Given the description of an element on the screen output the (x, y) to click on. 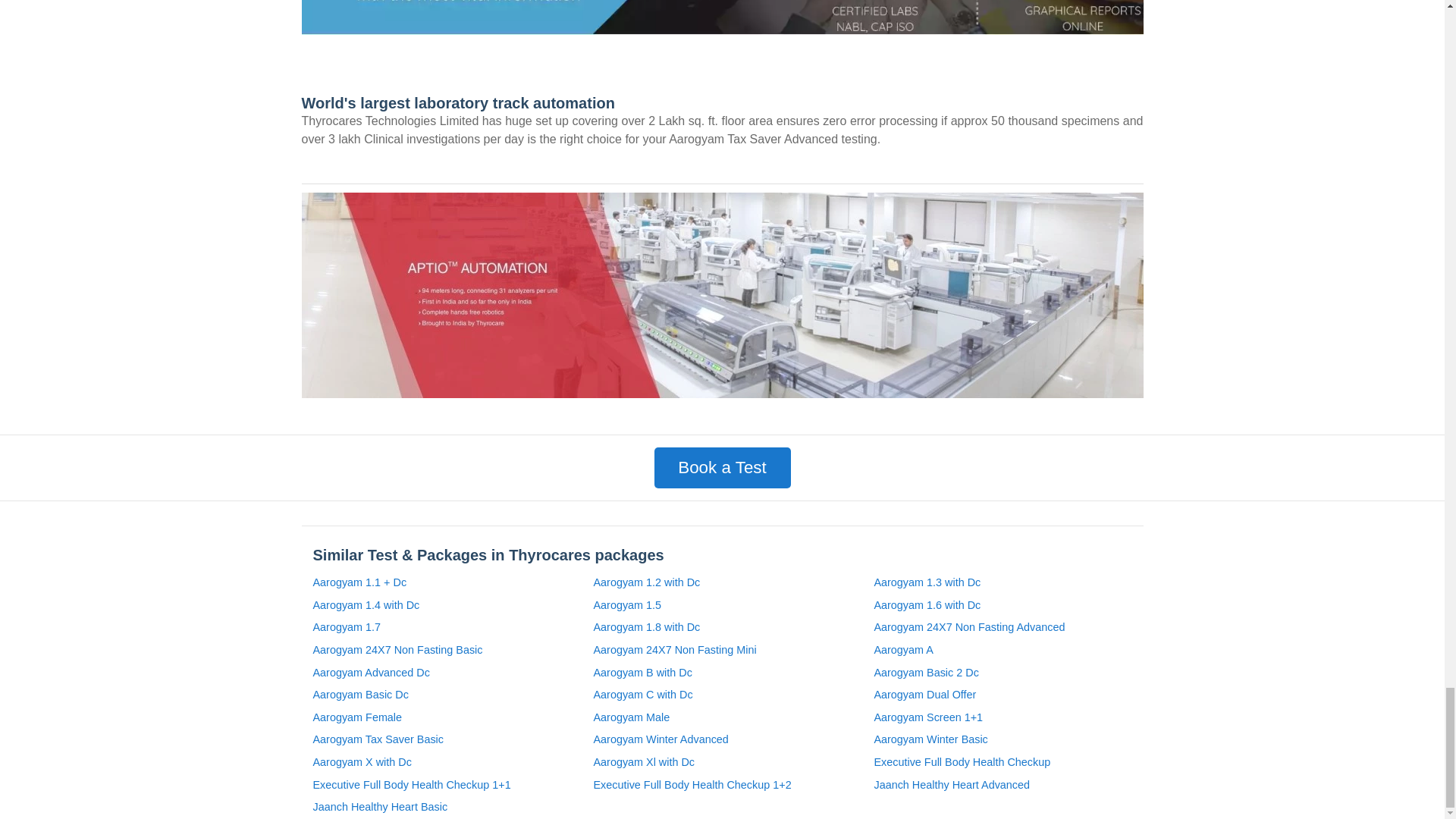
Aarogyam A (903, 650)
Aarogyam A (903, 650)
Aarogyam 24X7 Non Fasting Mini (673, 650)
Aarogyam 1.5 (626, 605)
Aarogyam 1.2 with Dc (646, 582)
Book a Test (721, 467)
Aarogyam Advanced Dc (371, 672)
Aarogyam 24X7 Non Fasting Mini (673, 650)
Aarogyam 1.8 with Dc (646, 627)
Aarogyam Male (630, 717)
Aarogyam 1.4 with Dc (366, 605)
Aarogyam Dual Offer (924, 694)
Aarogyam 1.6 with Dc (926, 605)
Aarogyam 24X7 Non Fasting Basic (397, 650)
Aarogyam 1.2 with Dc (646, 582)
